Given the description of an element on the screen output the (x, y) to click on. 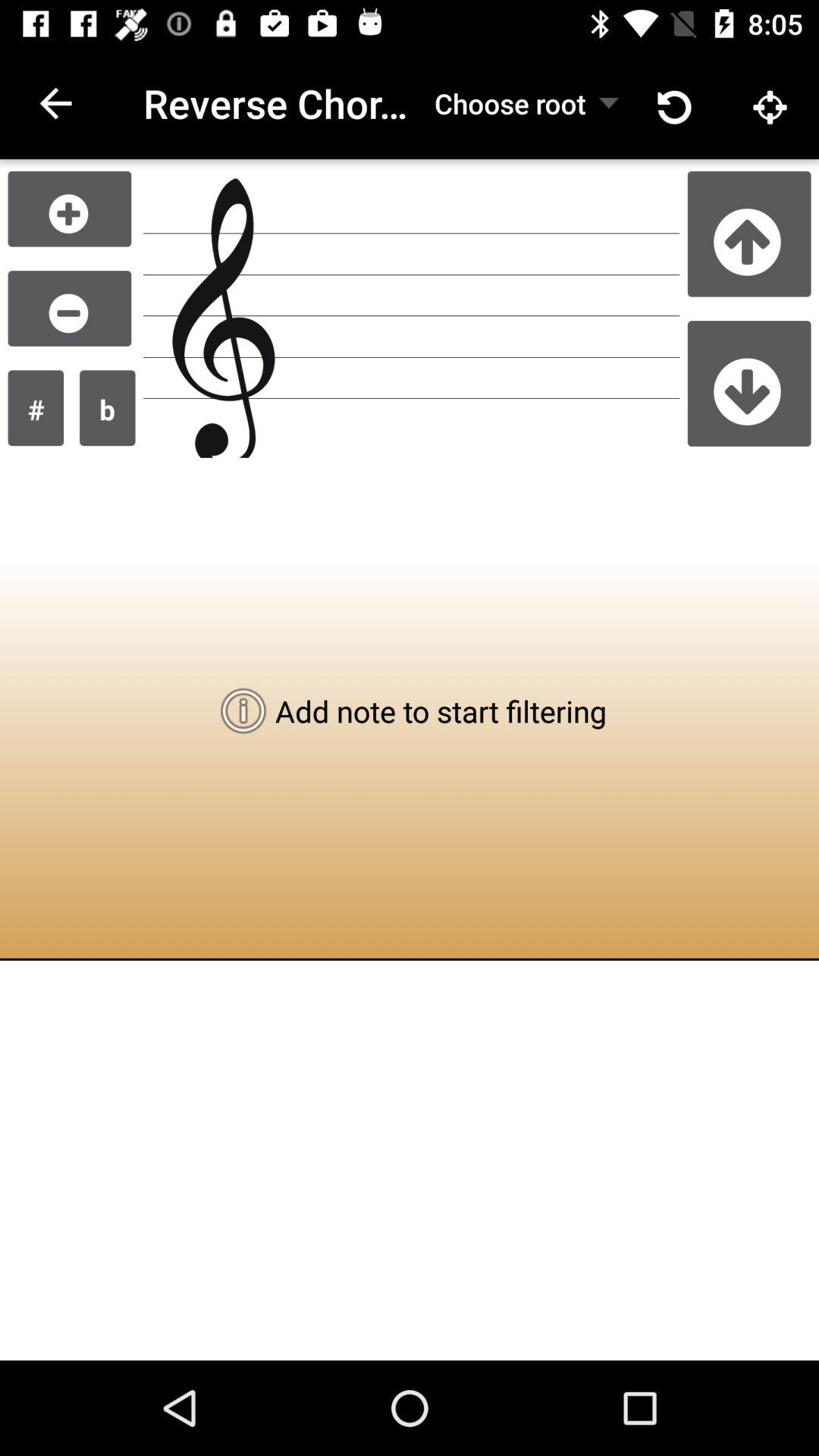
tap choose root (509, 103)
